Given the description of an element on the screen output the (x, y) to click on. 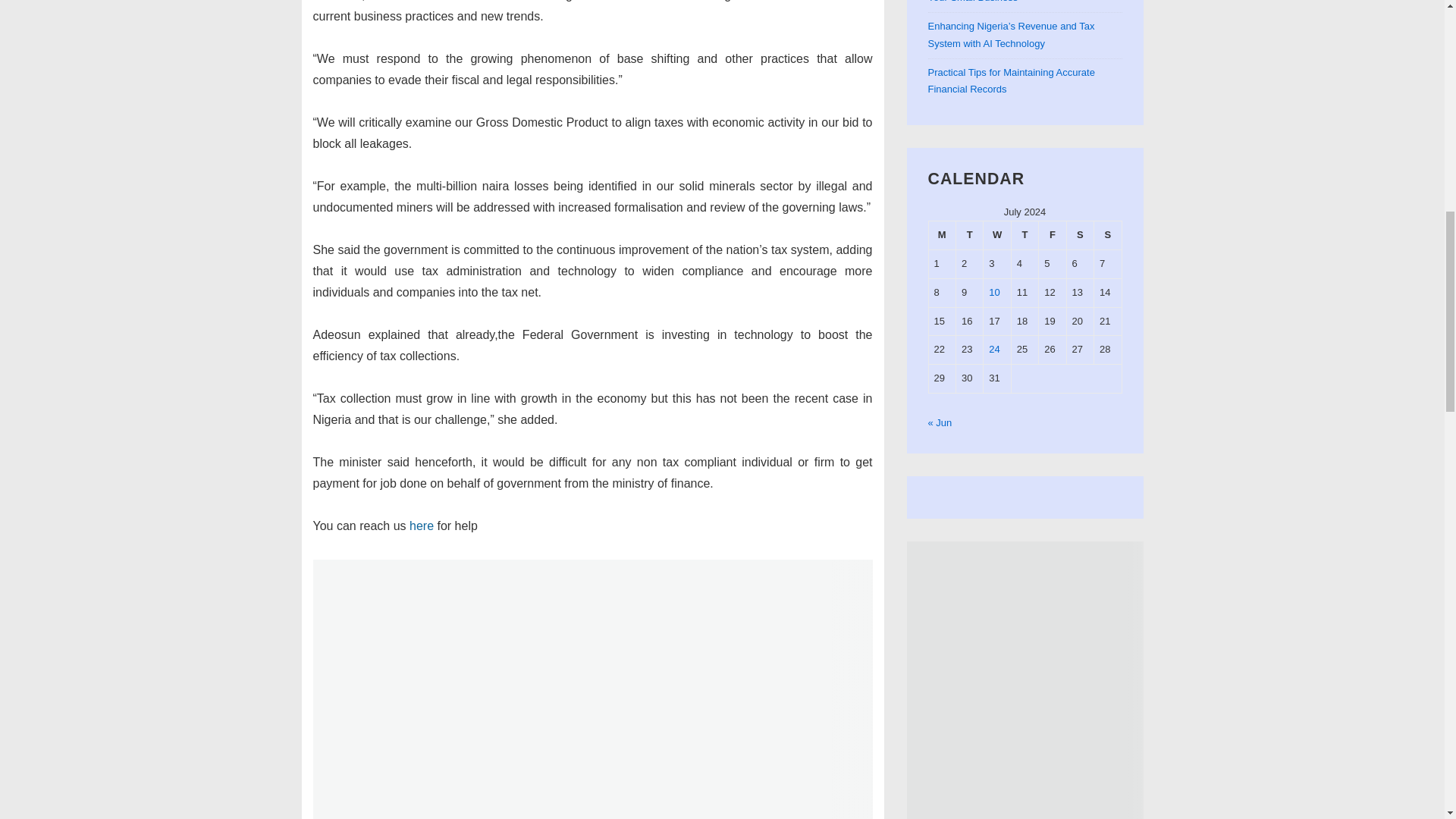
Tuesday (968, 235)
Building a Good Accounting Structure for Your Small Business (1017, 2)
24 (993, 348)
here (421, 525)
Friday (1052, 235)
Practical Tips for Maintaining Accurate Financial Records (1011, 80)
Monday (941, 235)
Wednesday (997, 235)
Sunday (1107, 235)
10 (993, 292)
Saturday (1079, 235)
Thursday (1024, 235)
